Given the description of an element on the screen output the (x, y) to click on. 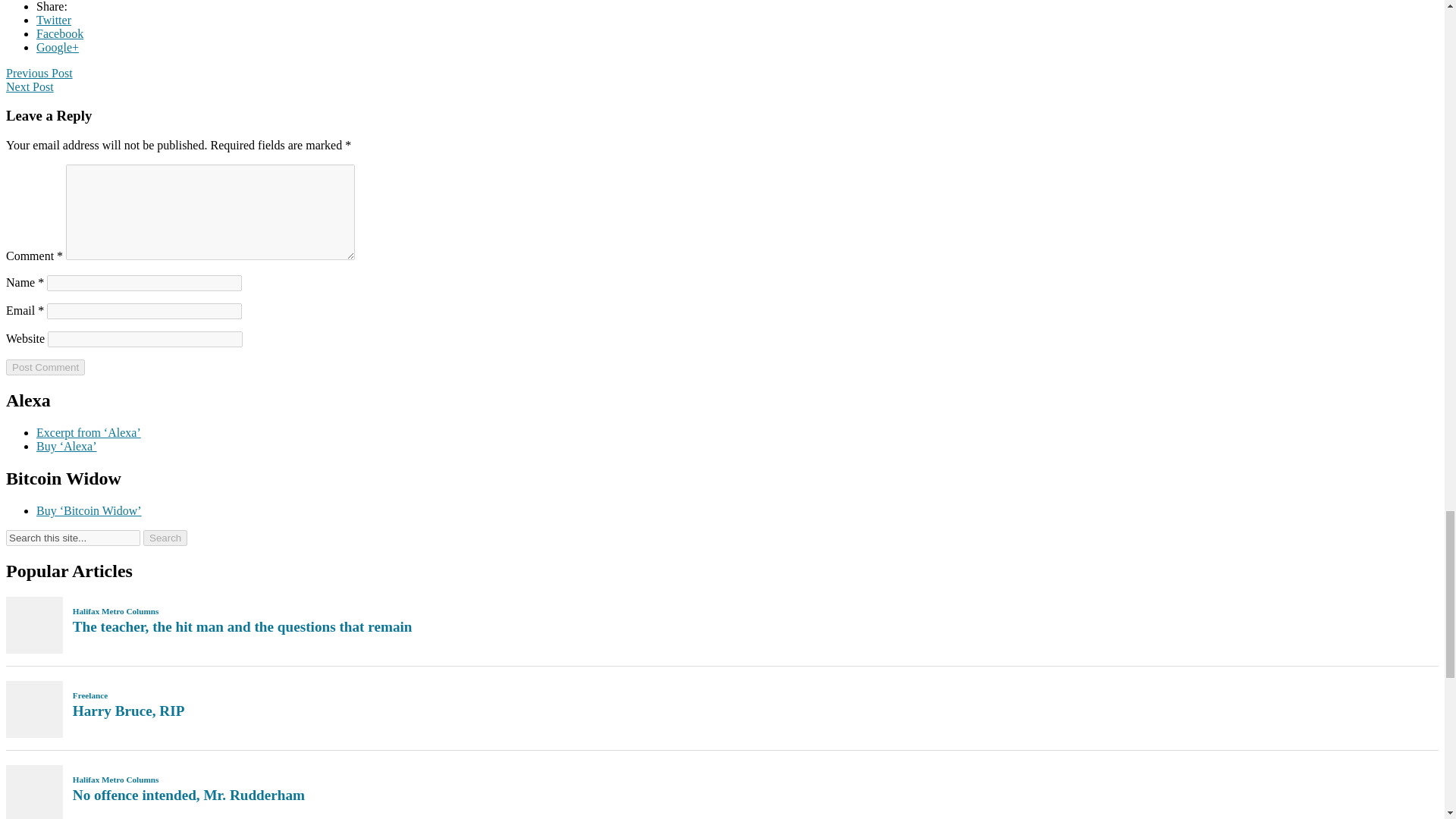
Search (164, 537)
Search this site... (72, 537)
Post Comment (44, 367)
